Given the description of an element on the screen output the (x, y) to click on. 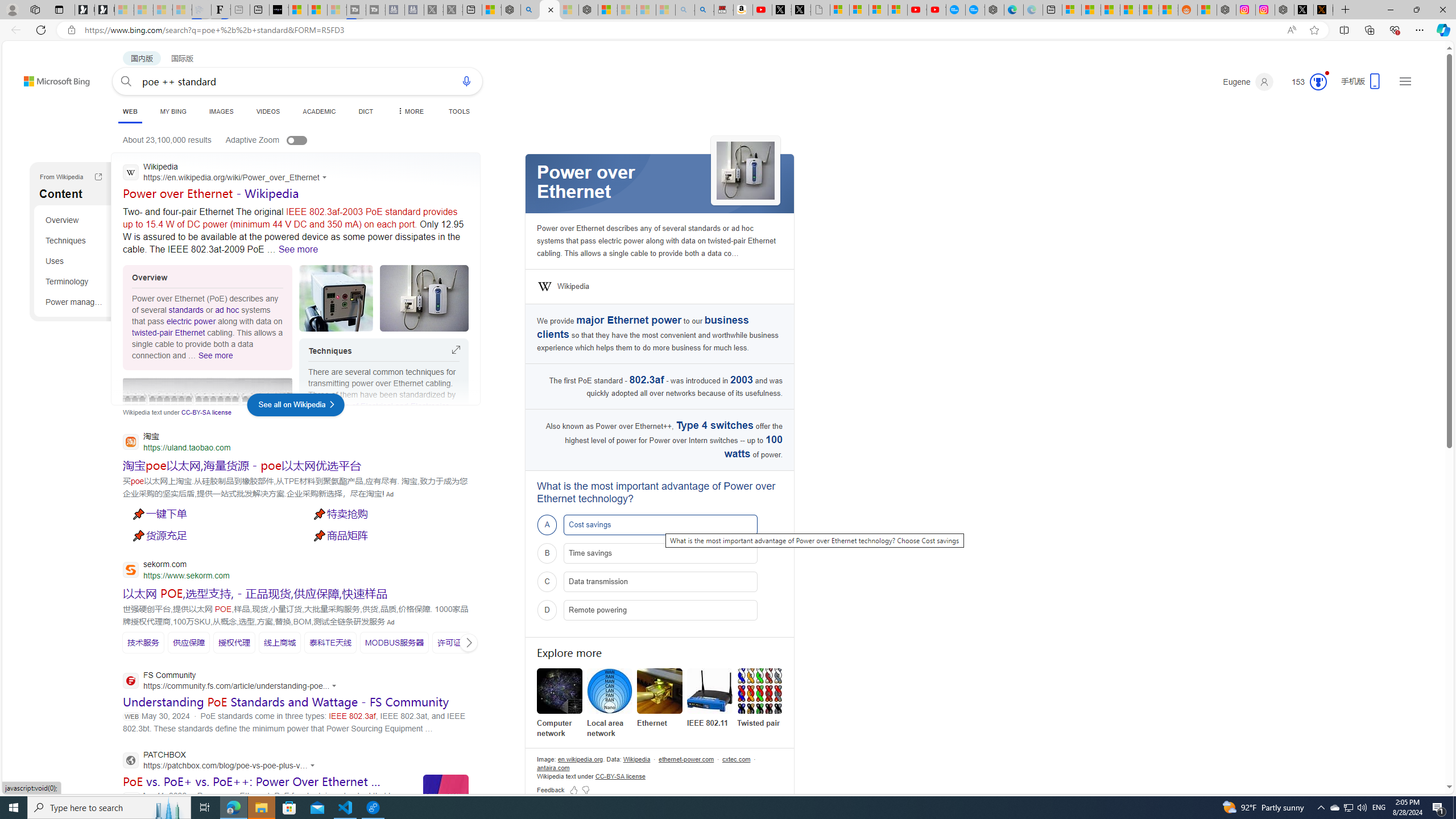
SERP,5930 (330, 642)
Techniques (74, 240)
SERP,5917 (207, 513)
IMAGES (220, 111)
X - Sleeping (452, 9)
ACADEMIC (319, 111)
Computer network (559, 703)
Click to scroll right (468, 642)
SERP,5918 (388, 513)
Day 1: Arriving in Yemen (surreal to be here) - YouTube (762, 9)
See more images of Power over Ethernet (745, 171)
